Given the description of an element on the screen output the (x, y) to click on. 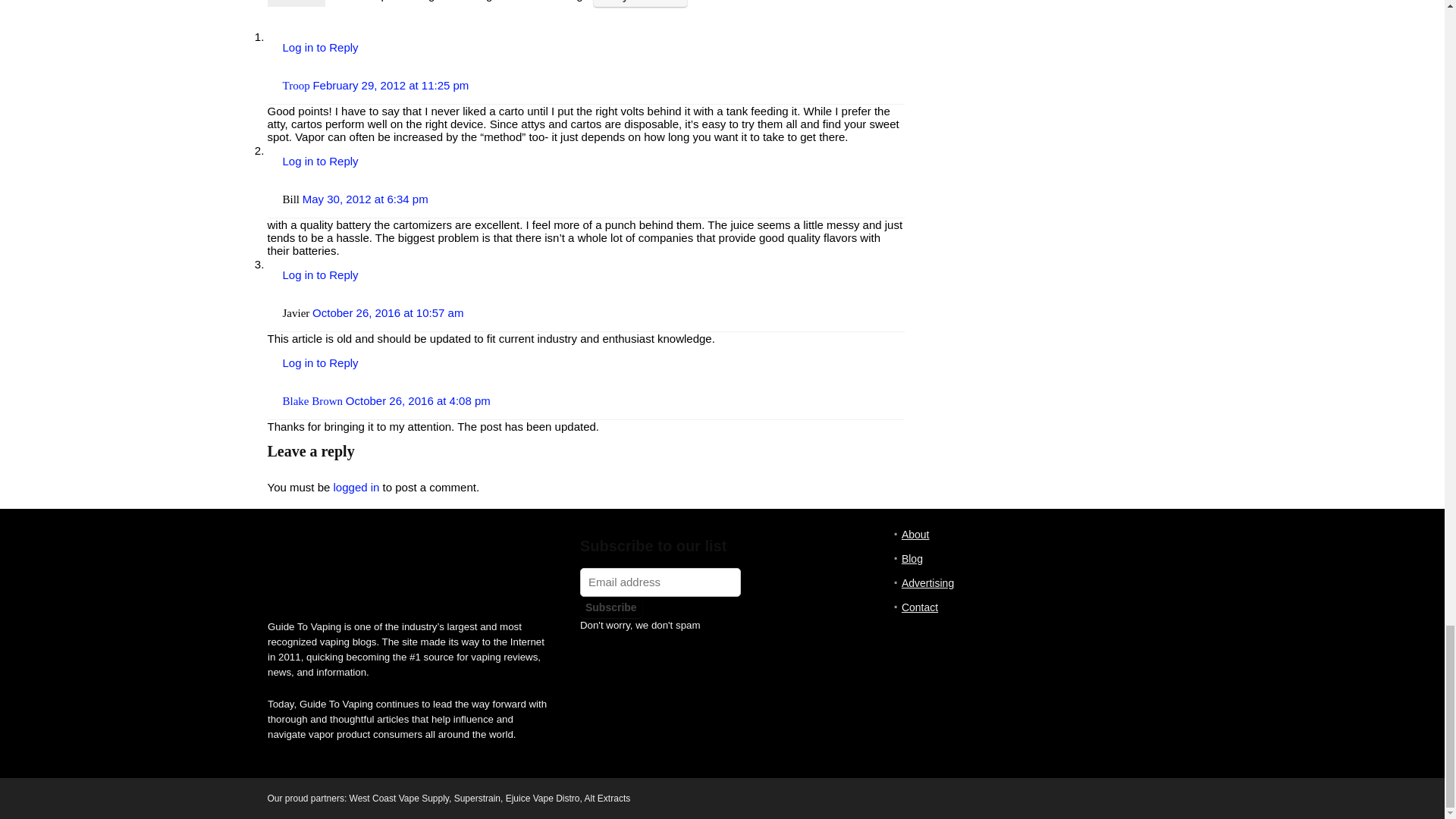
Subscribe (610, 607)
Add your review (640, 3)
Add your review (640, 3)
Log in to Reply (320, 47)
